Given the description of an element on the screen output the (x, y) to click on. 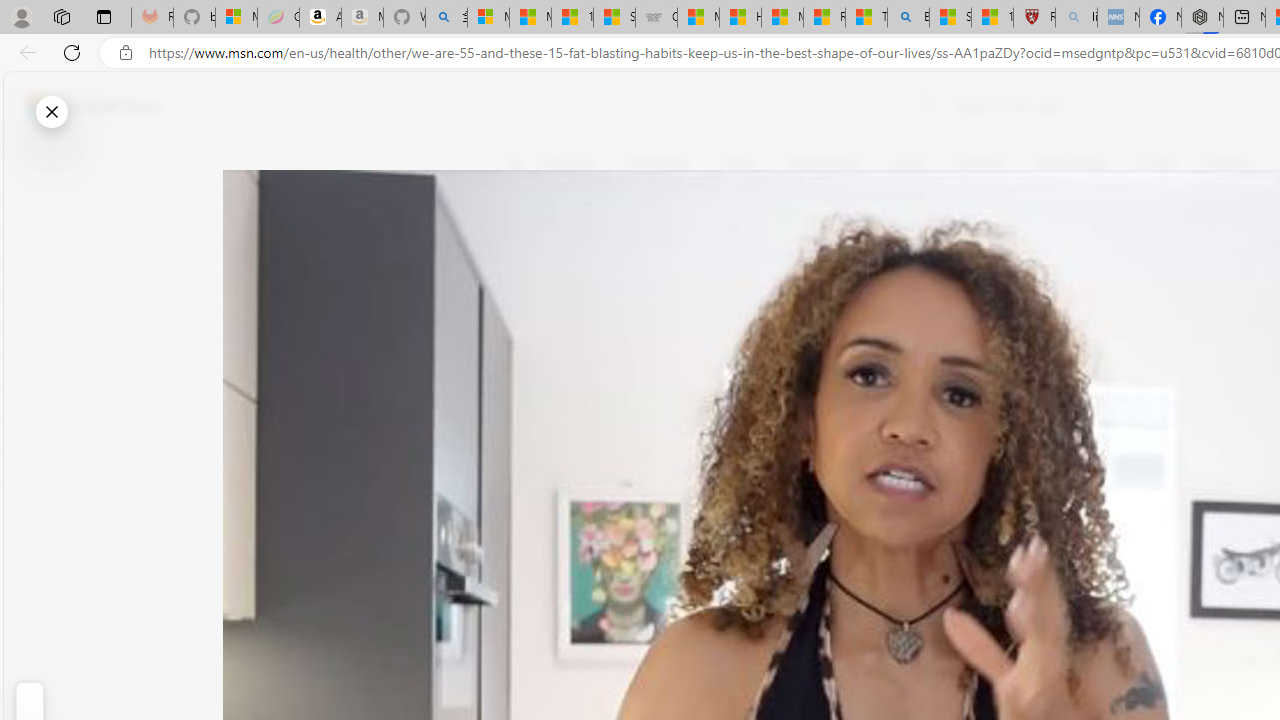
Bing (908, 17)
How I Got Rid of Microsoft Edge's Unnecessary Features (740, 17)
6 (525, 300)
Body Network (788, 259)
